Given the description of an element on the screen output the (x, y) to click on. 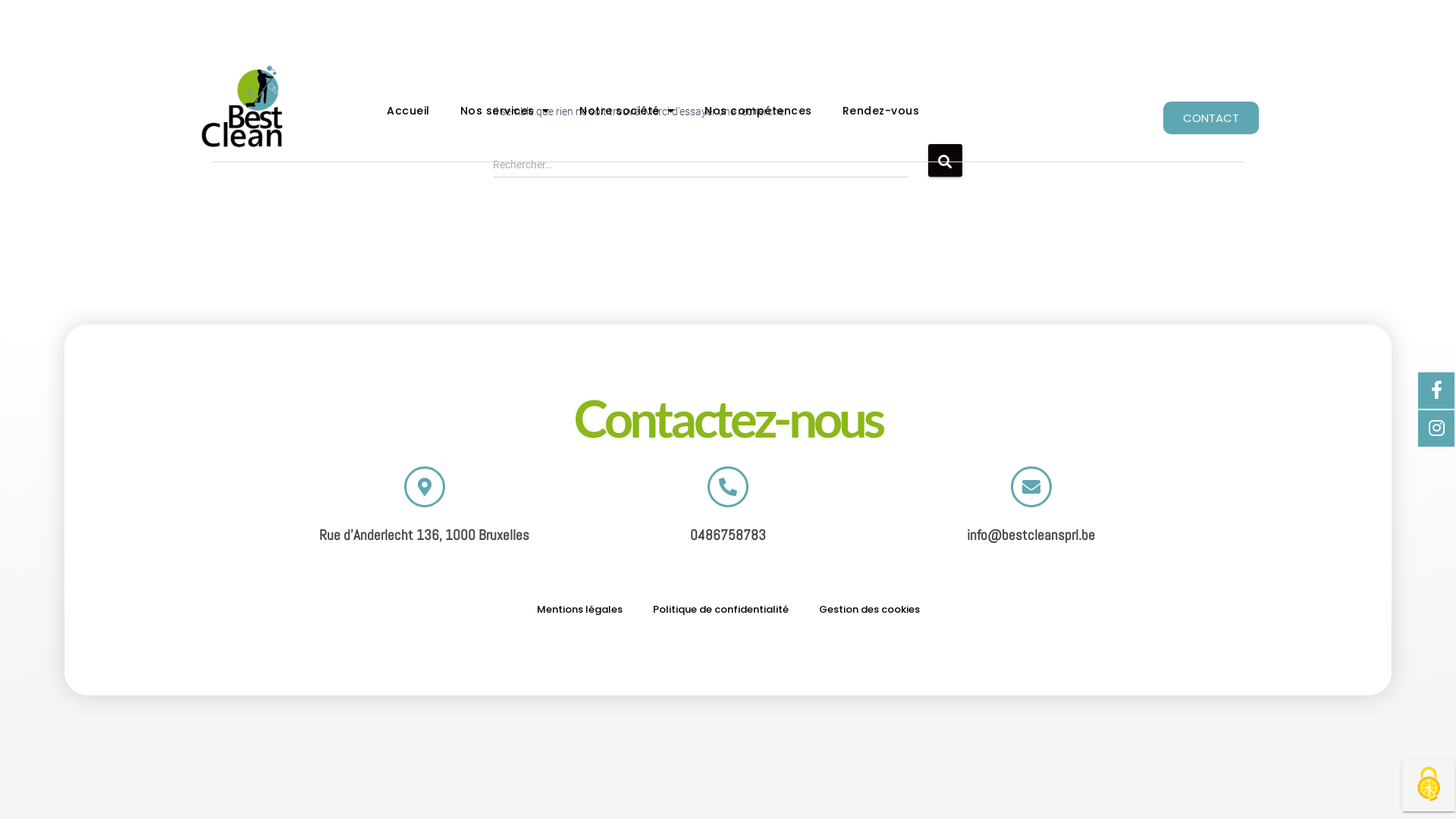
Nos services Element type: text (504, 110)
Rechercher Element type: text (945, 160)
info@bestcleansprl.be Element type: text (1030, 533)
Accueil Element type: text (408, 110)
0486758783 Element type: text (727, 533)
CONTACT Element type: text (1210, 117)
Gestion des cookies Element type: text (869, 609)
Rendez-vous Element type: text (880, 110)
